Given the description of an element on the screen output the (x, y) to click on. 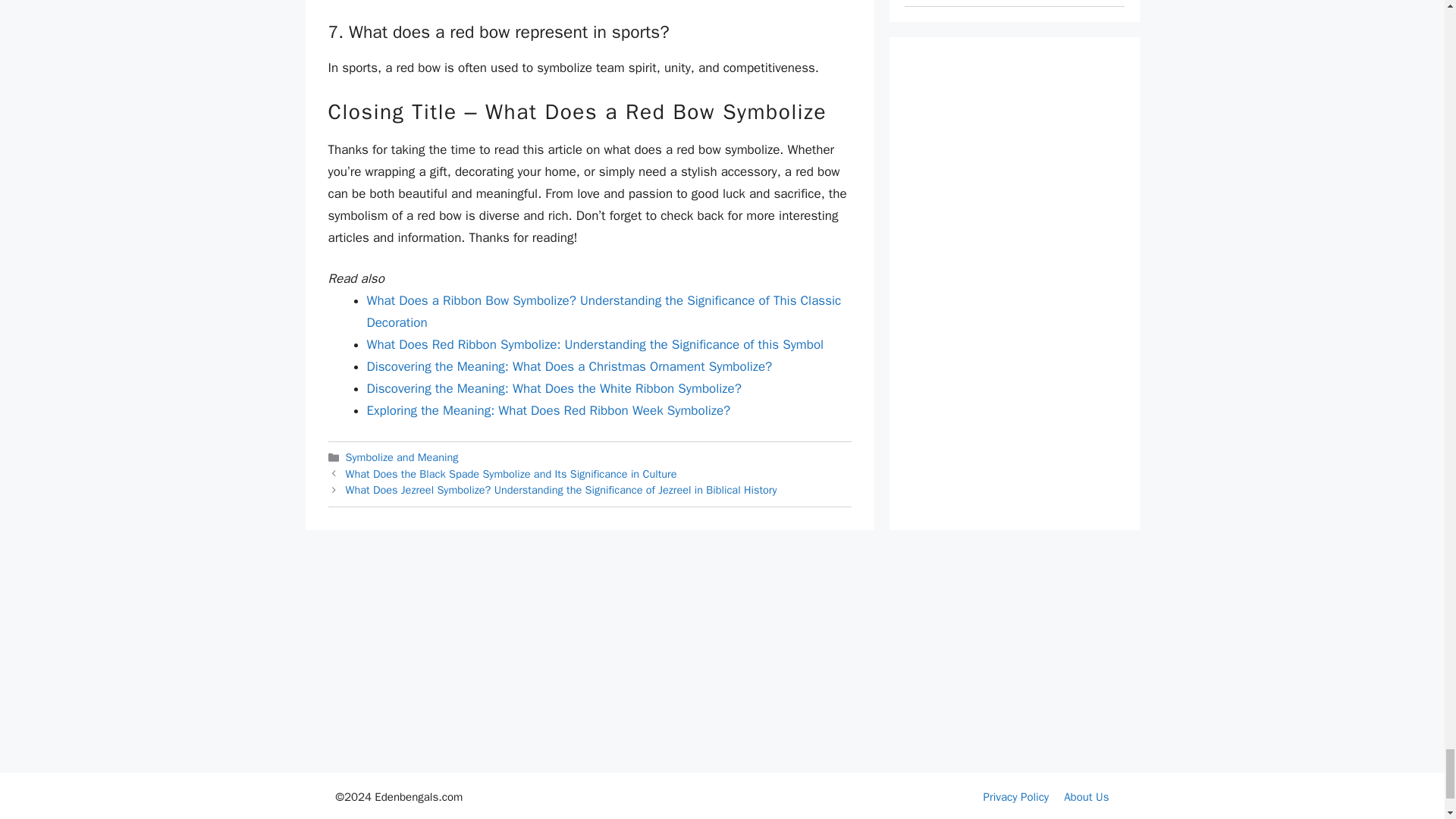
Exploring the Meaning: What Does Red Ribbon Week Symbolize? (548, 410)
Symbolize and Meaning (402, 457)
About Us (1086, 796)
Privacy Policy (1016, 796)
